Given the description of an element on the screen output the (x, y) to click on. 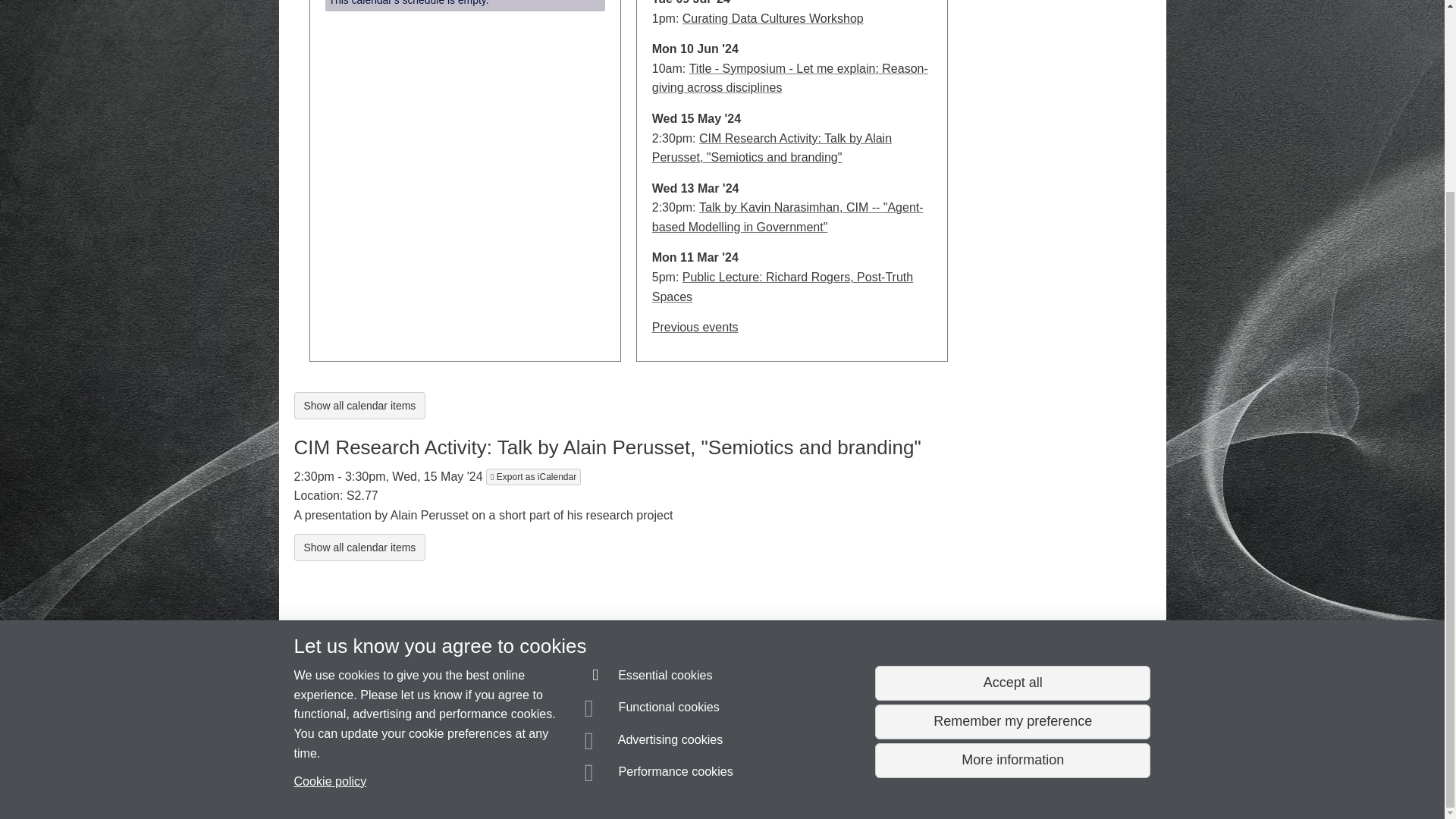
More information about SiteBuilder (365, 780)
true (771, 147)
true (782, 287)
true (379, 751)
